Given the description of an element on the screen output the (x, y) to click on. 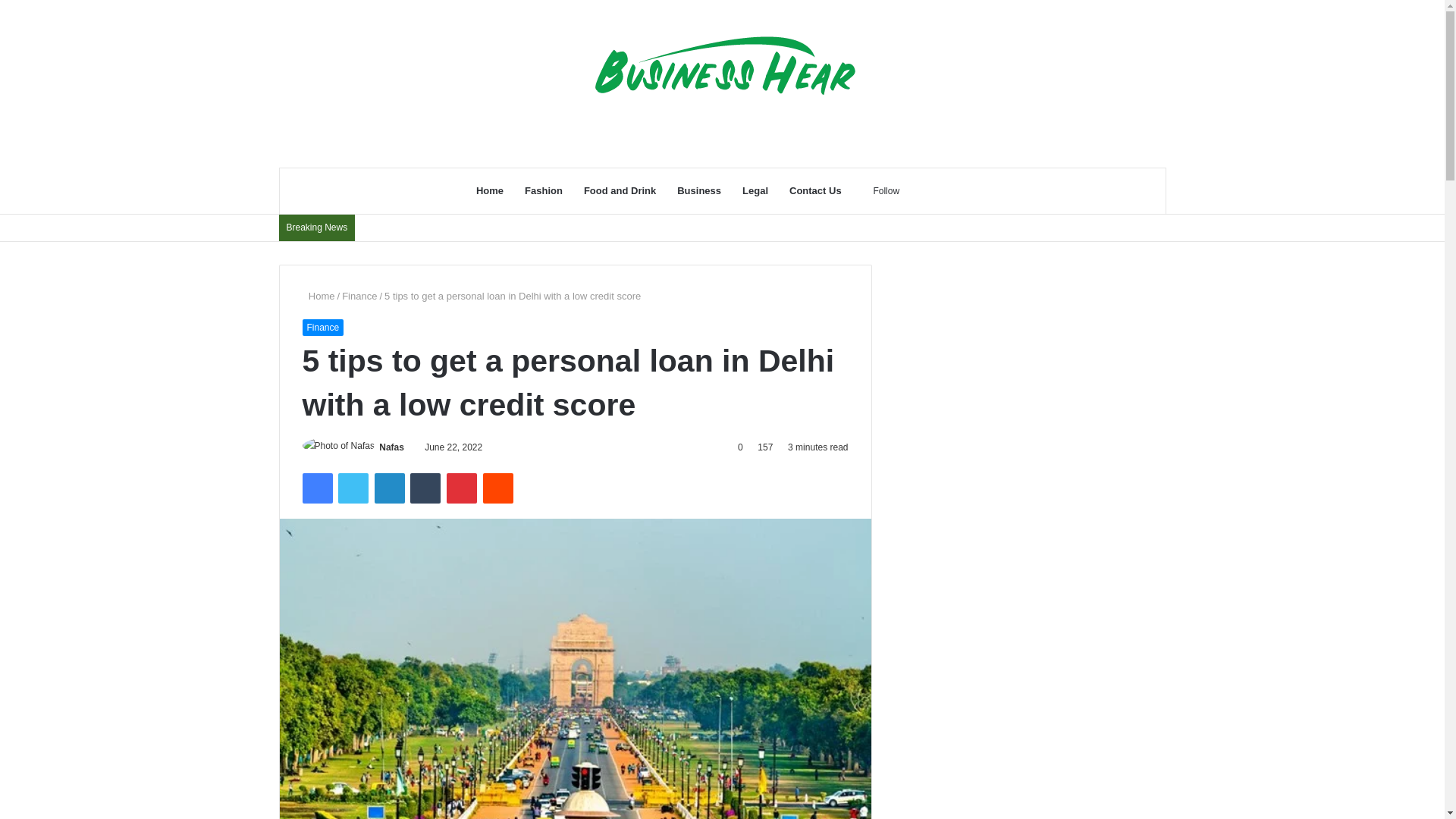
Business (699, 190)
Tumblr (425, 488)
Search for (967, 190)
Nafas (391, 447)
Home (489, 190)
Facebook (316, 488)
Twitter (352, 488)
Log In (922, 190)
Reddit (498, 488)
Pinterest (461, 488)
Contact Us (814, 190)
Finance (359, 296)
Twitter (352, 488)
Finance (322, 327)
Facebook (316, 488)
